Given the description of an element on the screen output the (x, y) to click on. 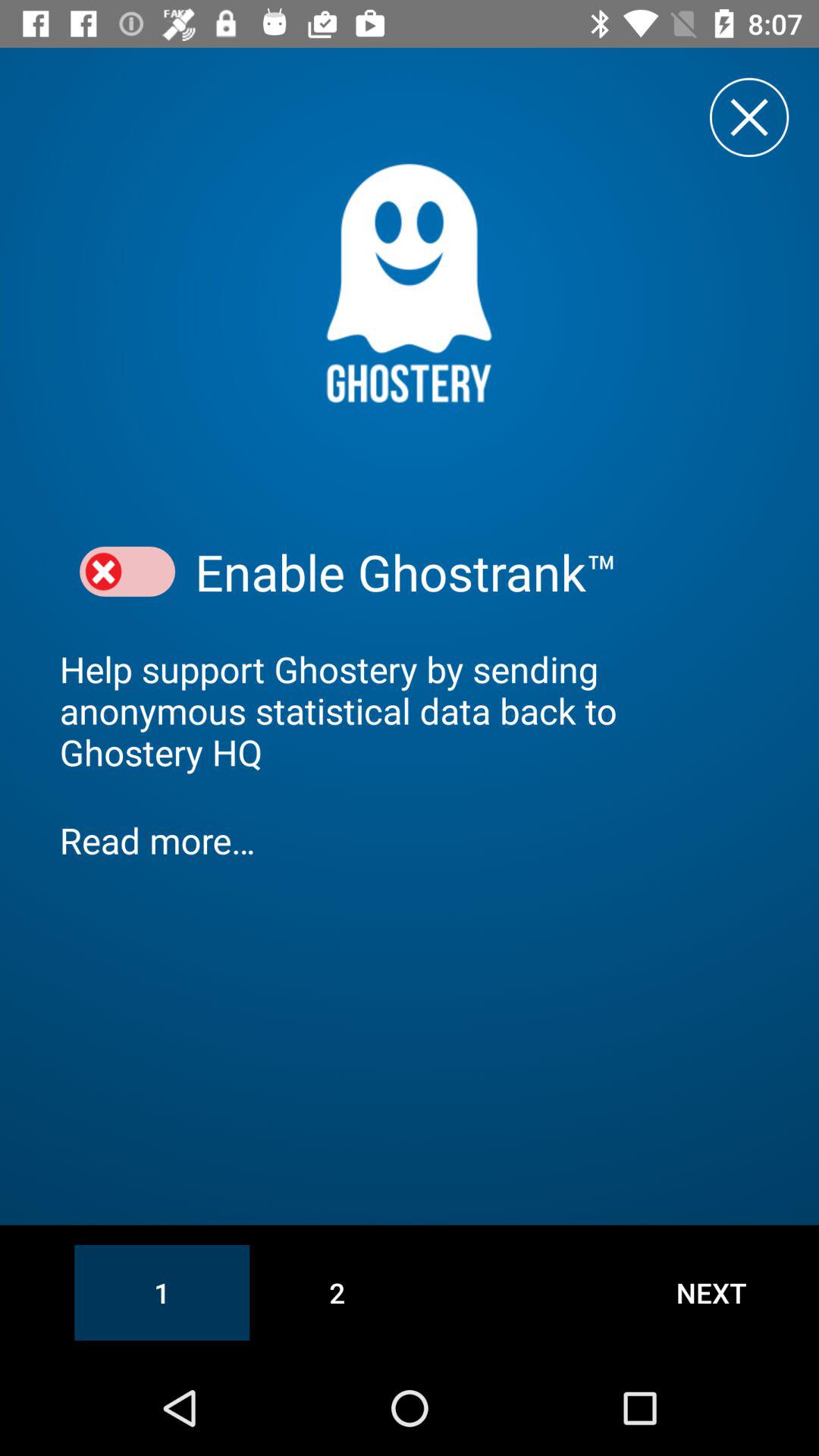
open next (711, 1292)
